Given the description of an element on the screen output the (x, y) to click on. 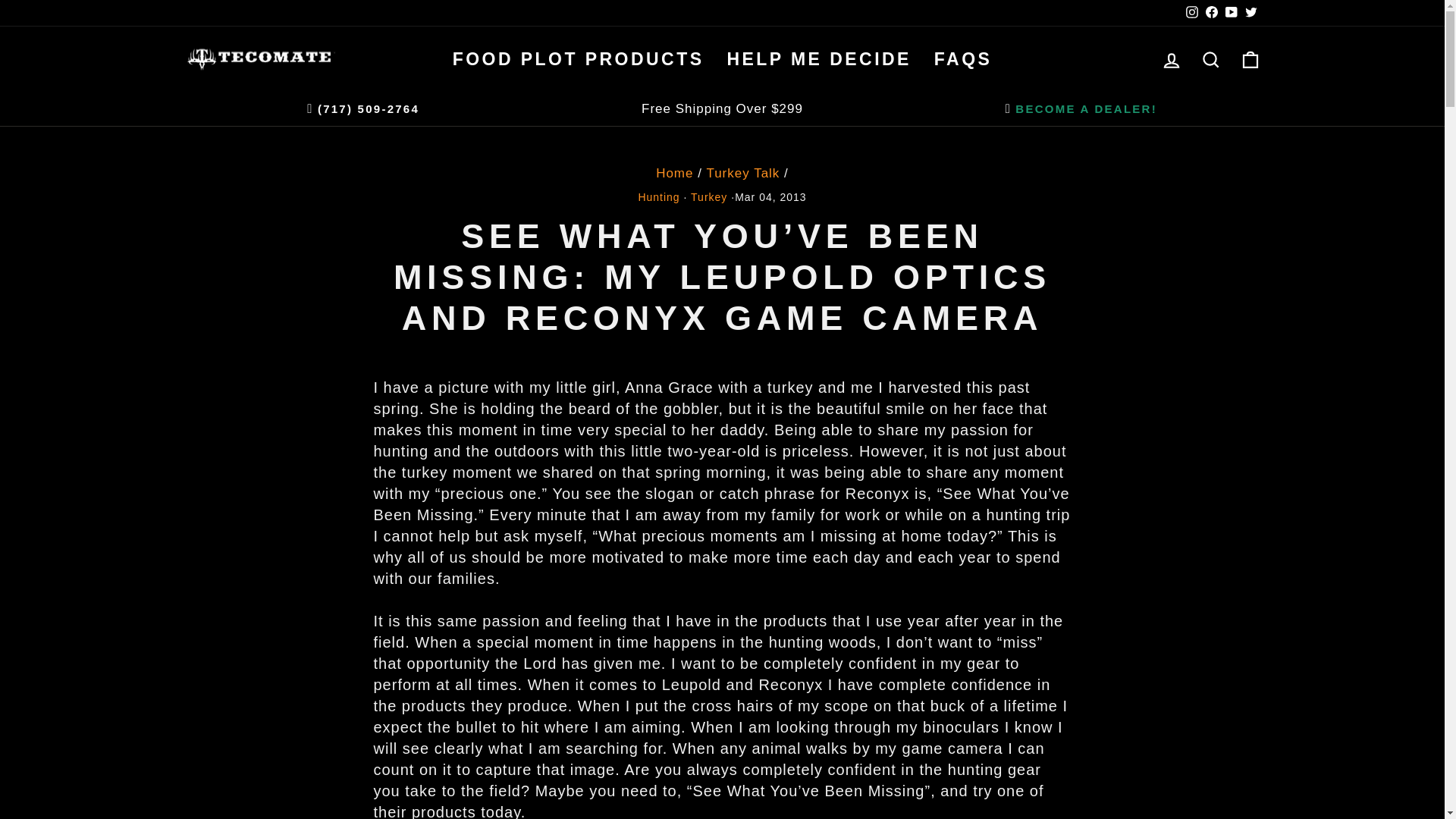
Tecomate on Facebook (1211, 12)
FOOD PLOT PRODUCTS (578, 59)
YouTube (1230, 12)
Instagram (1190, 12)
Tecomate on Instagram (1190, 12)
Tecomate on YouTube (1230, 12)
Twitter (1250, 12)
Tecomate on Twitter (1250, 12)
Facebook (1211, 12)
Back to the frontpage (674, 173)
